Given the description of an element on the screen output the (x, y) to click on. 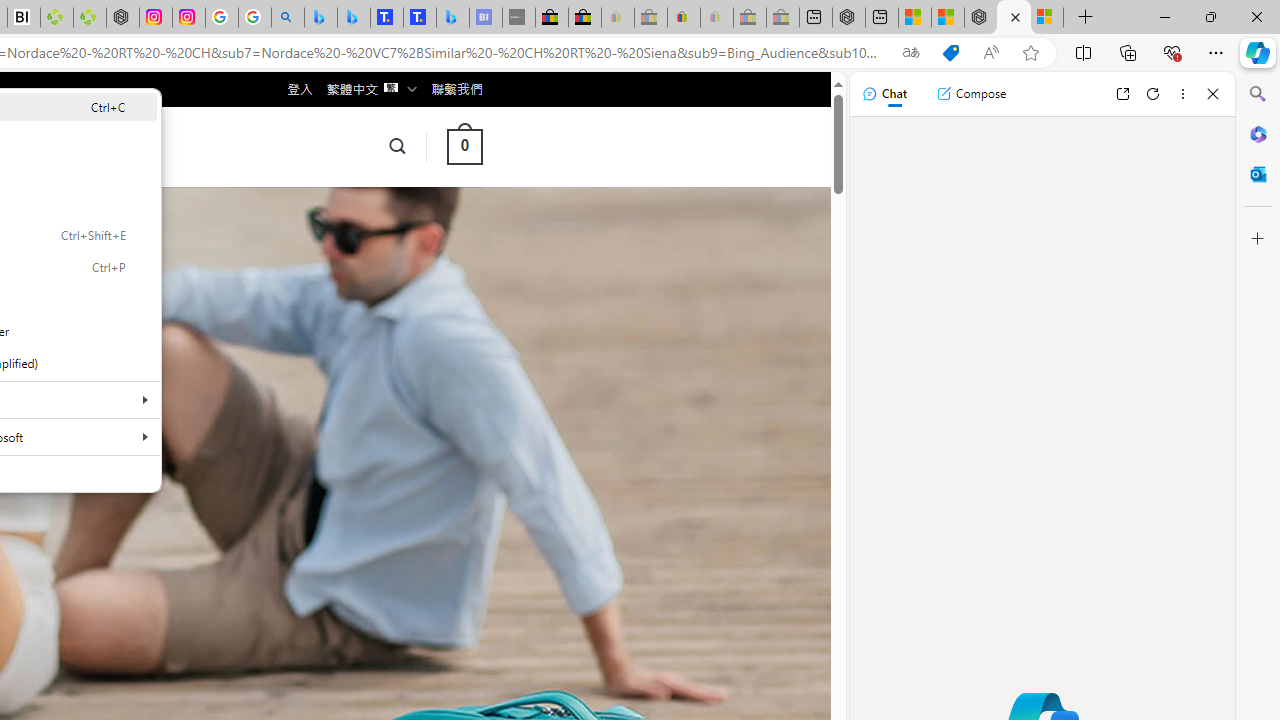
 0  (464, 146)
Compose (971, 93)
Microsoft Bing Travel - Stays in Bangkok, Bangkok, Thailand (353, 17)
Payments Terms of Use | eBay.com - Sleeping (717, 17)
